Given the description of an element on the screen output the (x, y) to click on. 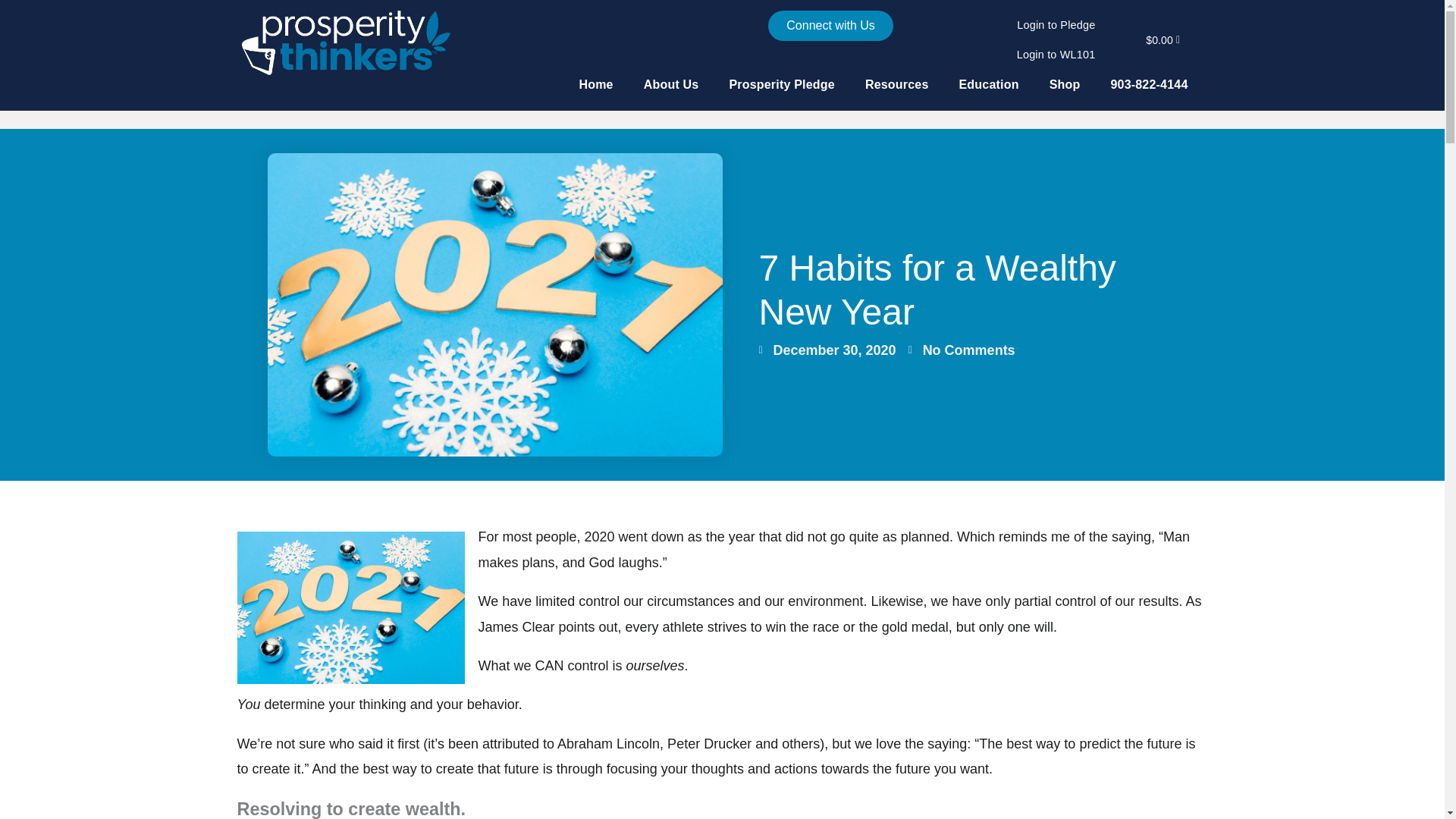
Login to Pledge (1055, 25)
Home (595, 84)
Prosperity Pledge (780, 84)
Login to WL101 (1055, 54)
Education (988, 84)
About Us (671, 84)
Connect with Us (830, 25)
Resources (896, 84)
903-822-4144 (1148, 84)
Shop (1064, 84)
